Given the description of an element on the screen output the (x, y) to click on. 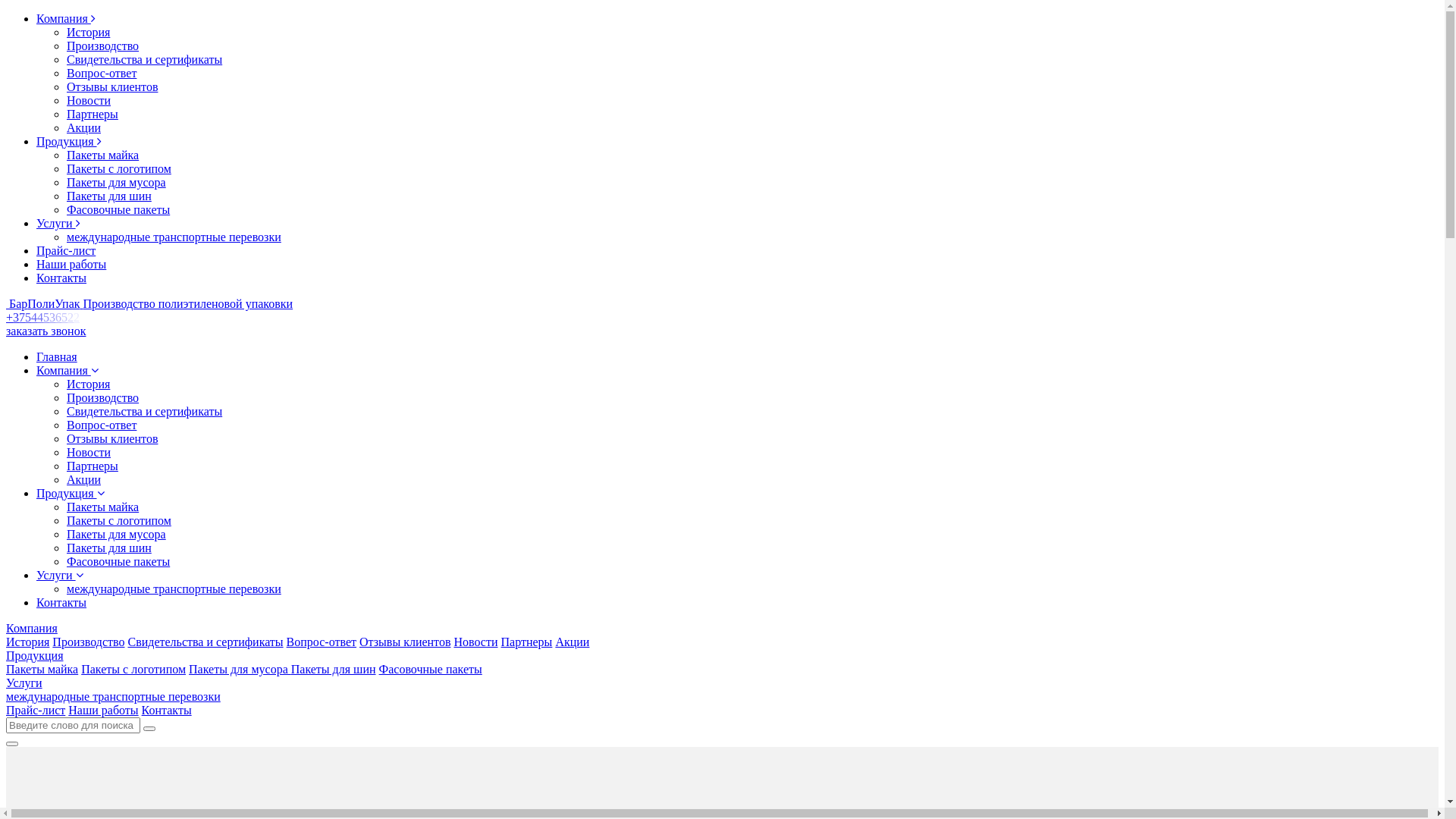
+37544536522 Element type: text (45, 316)
